Given the description of an element on the screen output the (x, y) to click on. 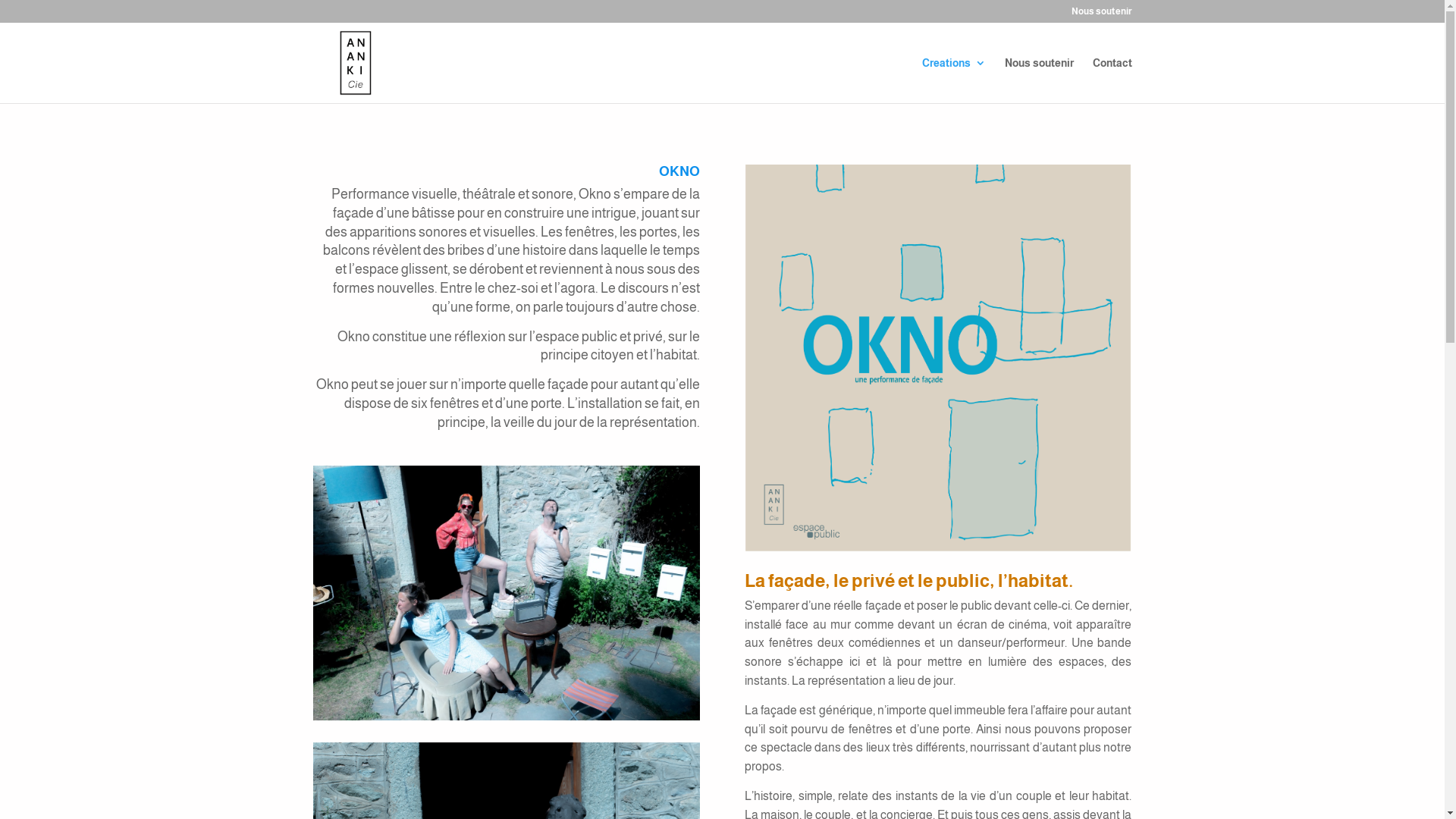
Creations Element type: text (953, 80)
Nous soutenir Element type: text (1038, 80)
Nous soutenir Element type: text (1100, 14)
Contact Element type: text (1111, 80)
Okno_flyer-01 Element type: hover (937, 357)
Image-1 Element type: hover (505, 592)
